Given the description of an element on the screen output the (x, y) to click on. 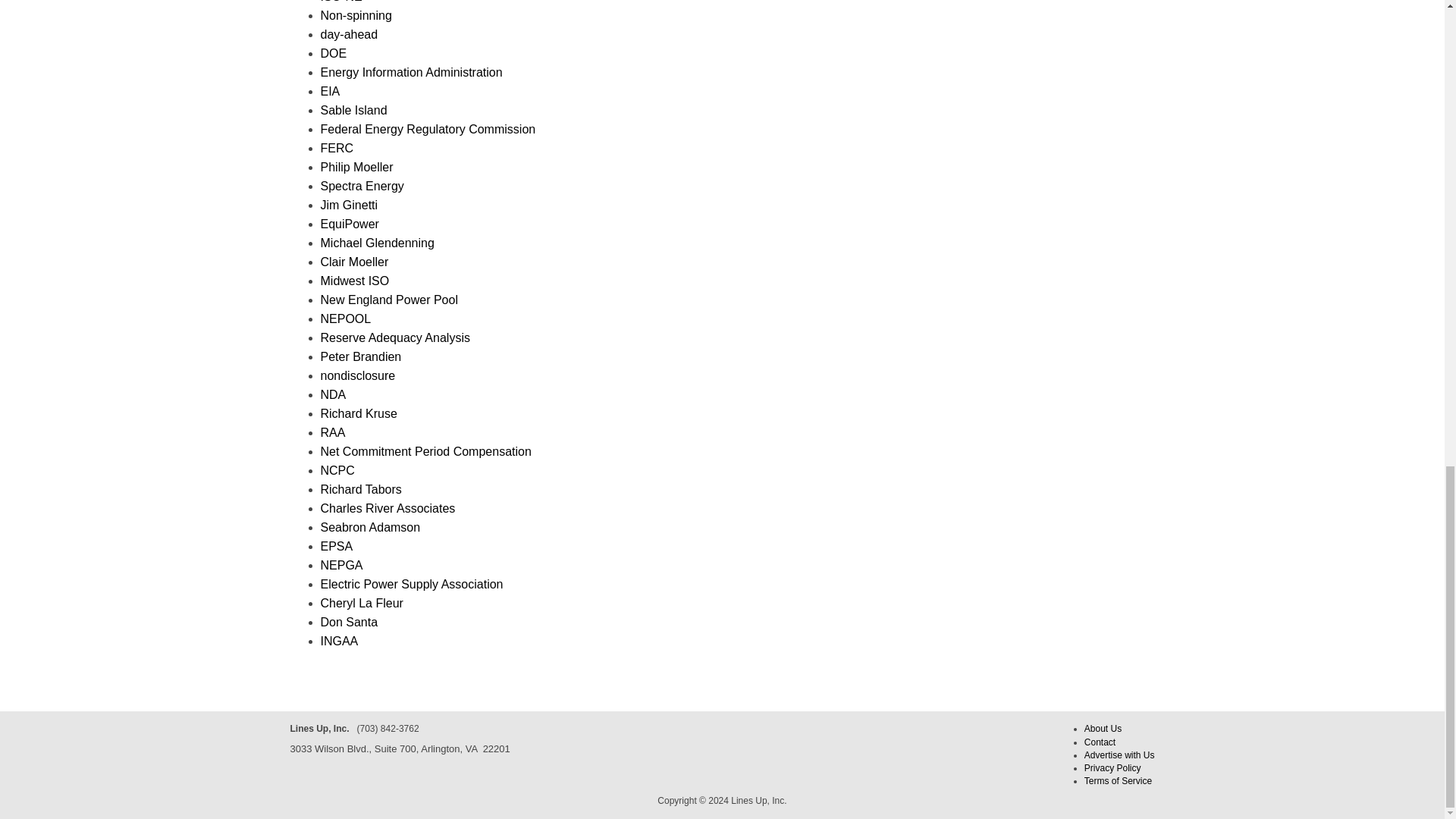
Energy Information Administration (411, 72)
EIA (329, 91)
day-ahead (348, 33)
Non-spinning (355, 15)
ISO-NE (340, 1)
DOE (333, 52)
